Given the description of an element on the screen output the (x, y) to click on. 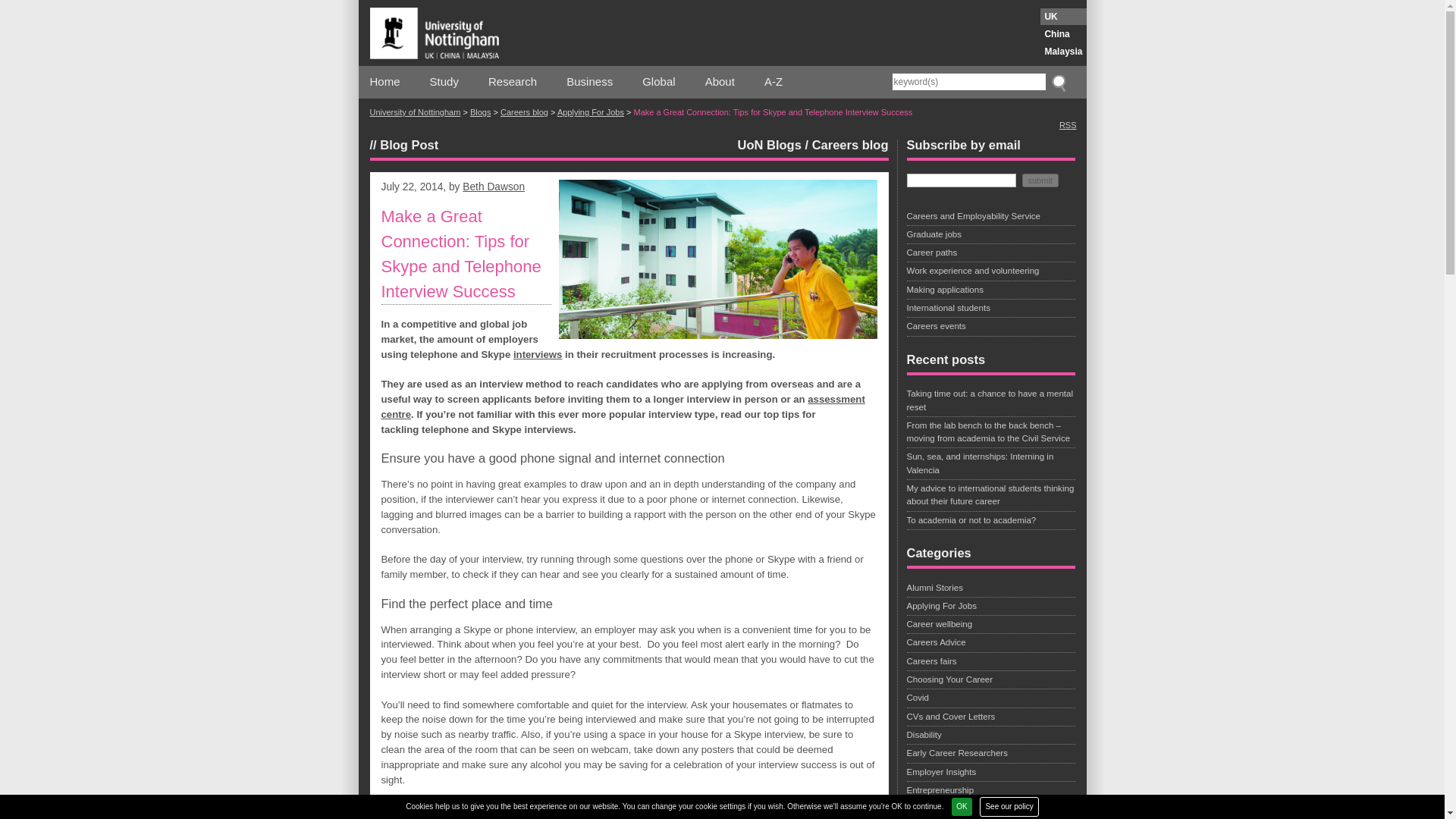
Study (443, 81)
Careers blog (524, 112)
Careers blog (850, 144)
A-Z (773, 81)
See our policy (1008, 806)
Research (512, 81)
Beth Dawson (493, 186)
China (1063, 33)
Find out how to navigate assessment centres (622, 406)
UoN Blogs (770, 144)
Global (658, 81)
interviews (537, 354)
University of Nottingham (415, 112)
About (719, 81)
Home (384, 81)
